Given the description of an element on the screen output the (x, y) to click on. 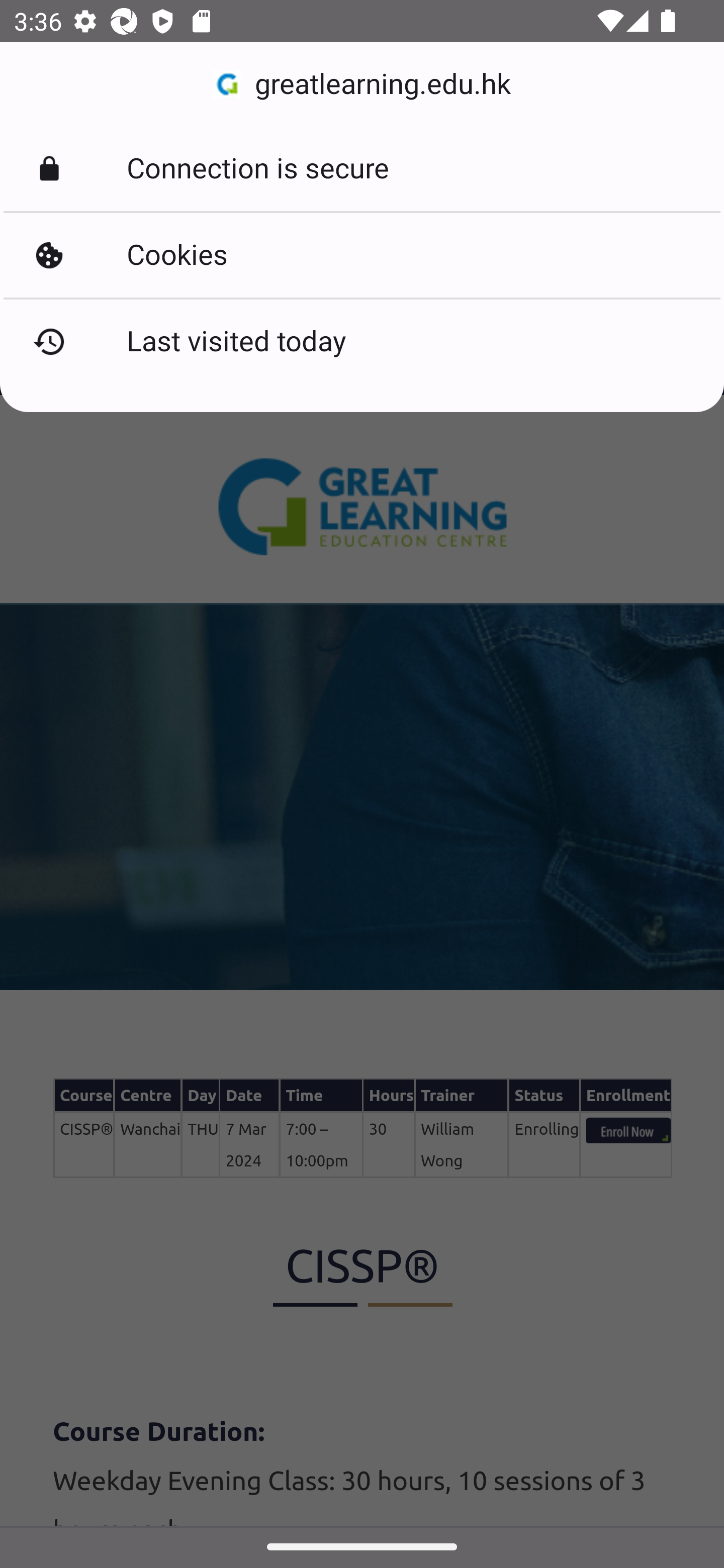
greatlearning.edu.hk (362, 84)
Connection is secure (362, 169)
Cookies (362, 255)
Last visited today (362, 341)
